Given the description of an element on the screen output the (x, y) to click on. 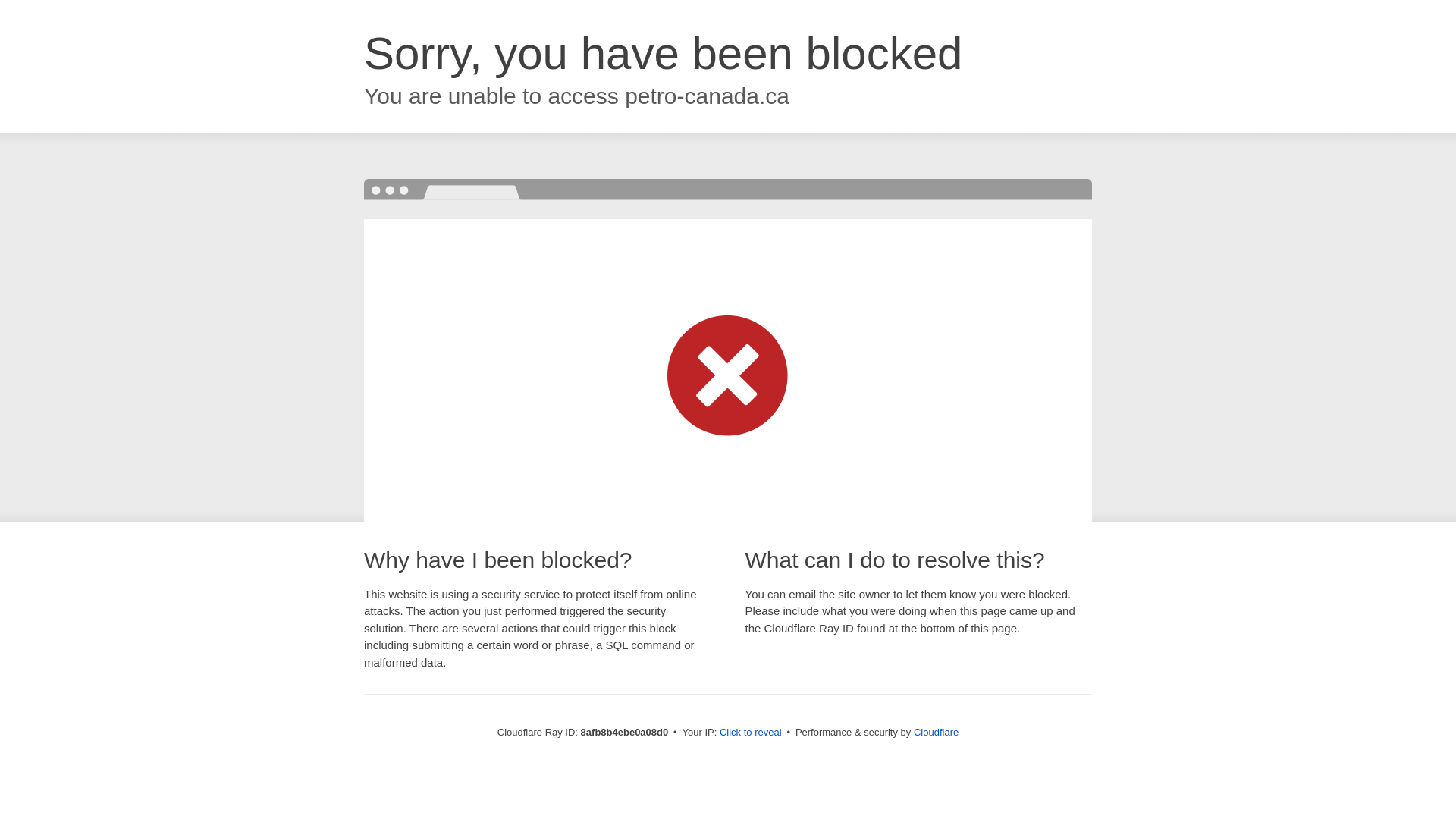
Click to reveal (750, 732)
Cloudflare (936, 731)
